Given the description of an element on the screen output the (x, y) to click on. 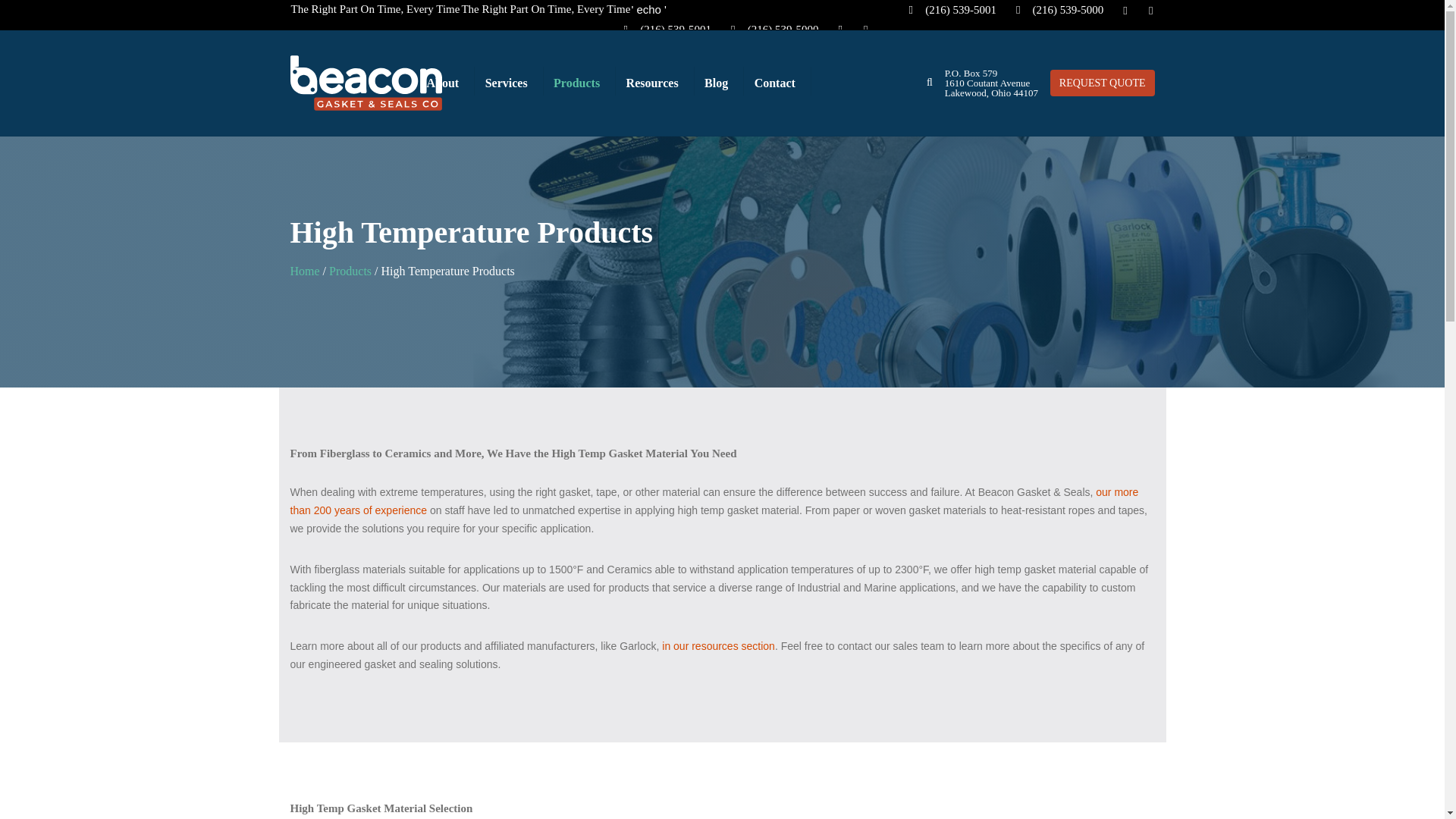
our more than 200 years of experience (713, 501)
REQUEST QUOTE (1101, 82)
Products (576, 82)
Products (350, 270)
About (442, 82)
Resources (651, 82)
in our resources section (718, 645)
Search (929, 81)
Contact (774, 82)
Services (506, 82)
